Given the description of an element on the screen output the (x, y) to click on. 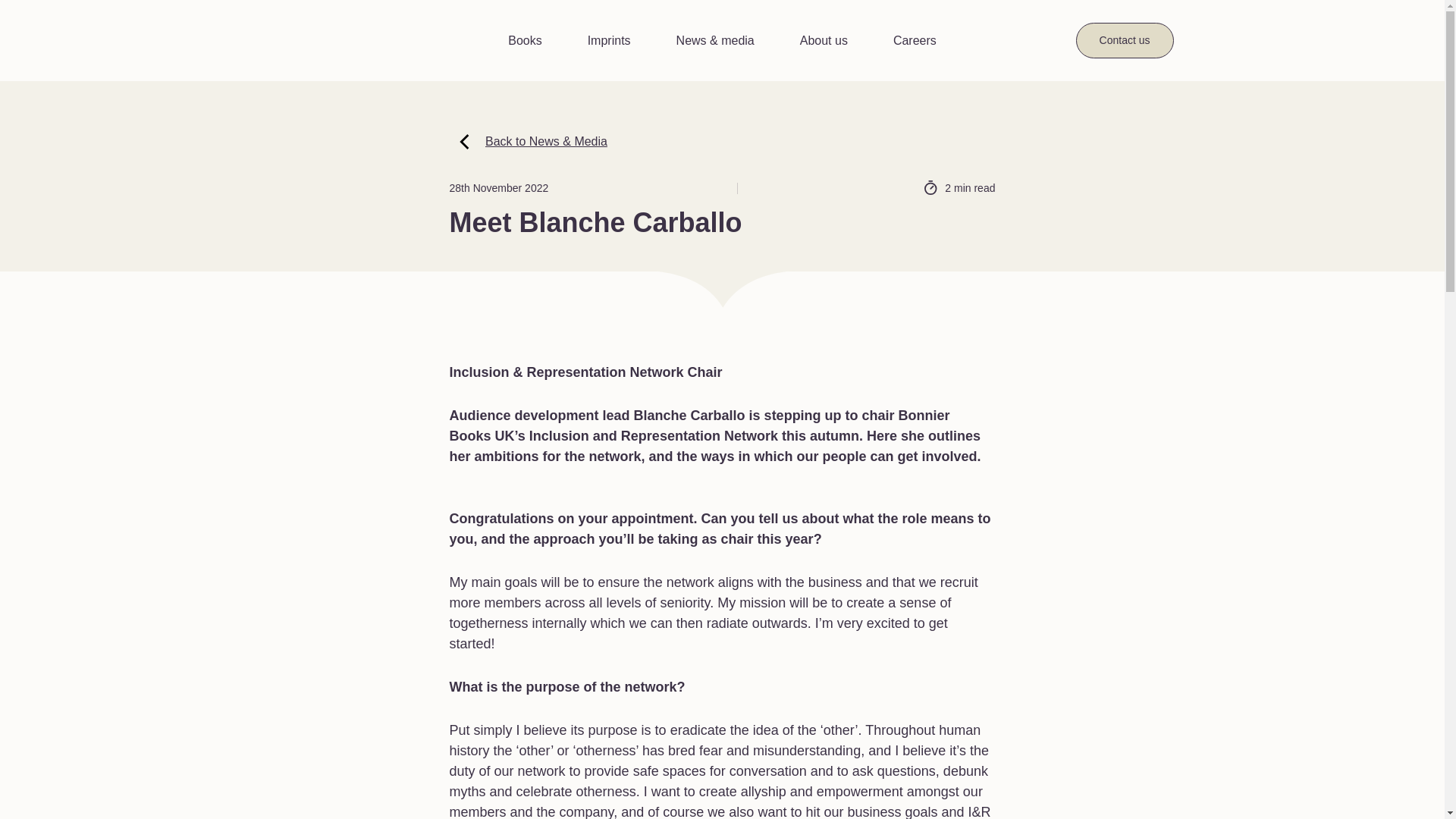
Books (524, 40)
Careers (914, 40)
Contact us (1124, 40)
Search (1075, 34)
About us (823, 40)
Imprints (609, 40)
